Given the description of an element on the screen output the (x, y) to click on. 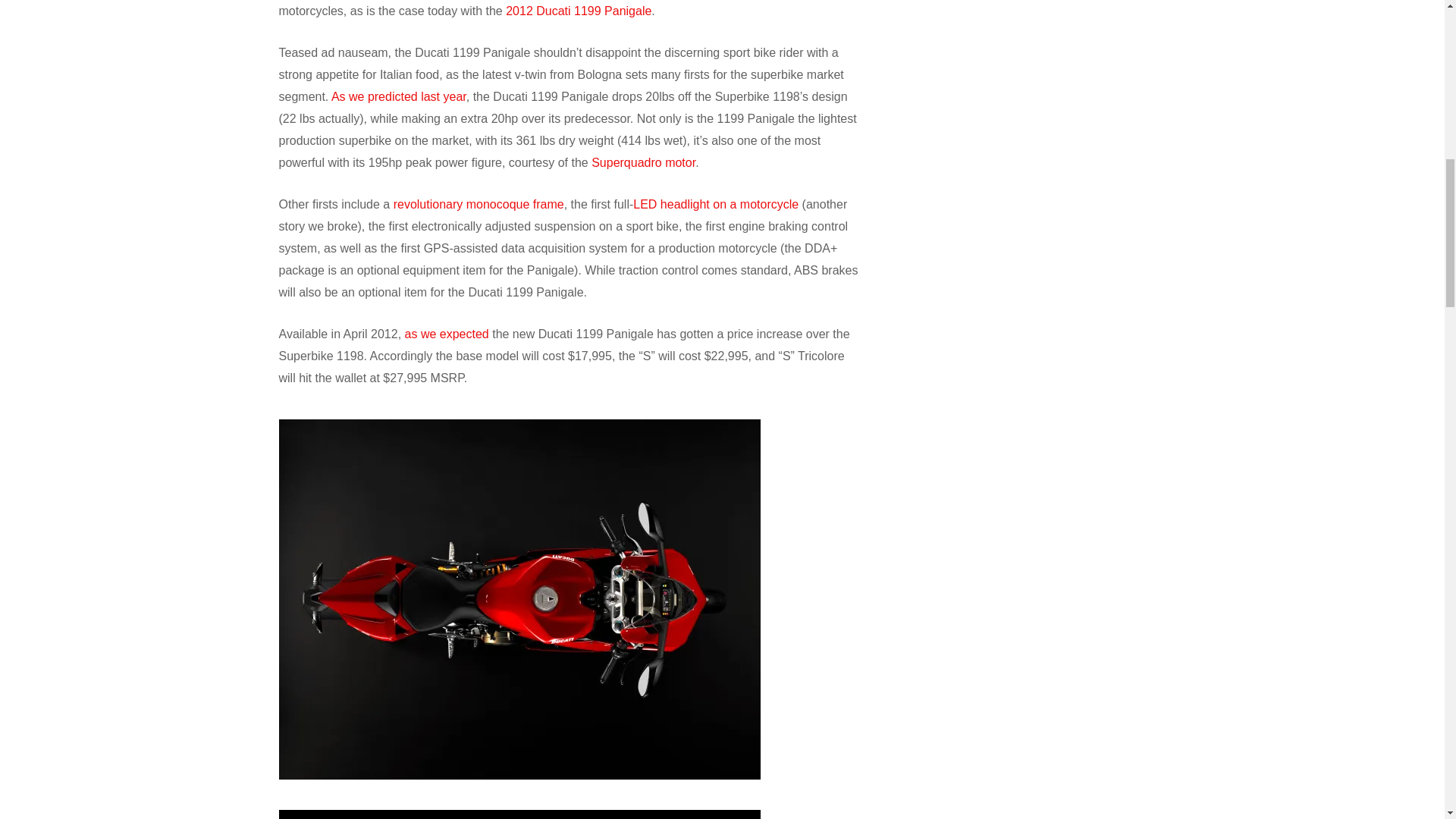
2012 Ducati 1199 Panigale (577, 10)
As we predicted last year (398, 96)
Superquadro motor (643, 162)
